Given the description of an element on the screen output the (x, y) to click on. 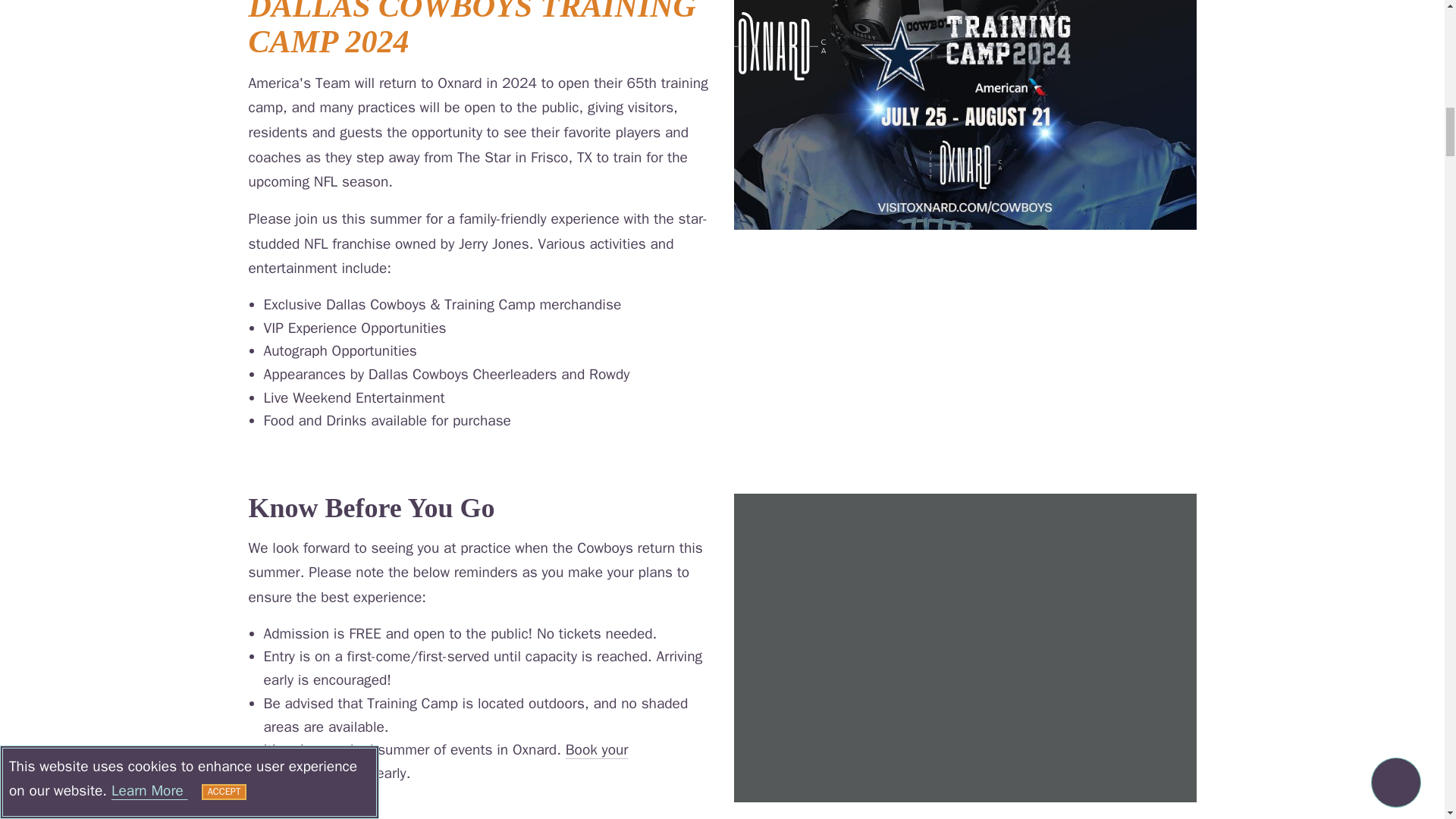
Book your accommodations (445, 761)
